Given the description of an element on the screen output the (x, y) to click on. 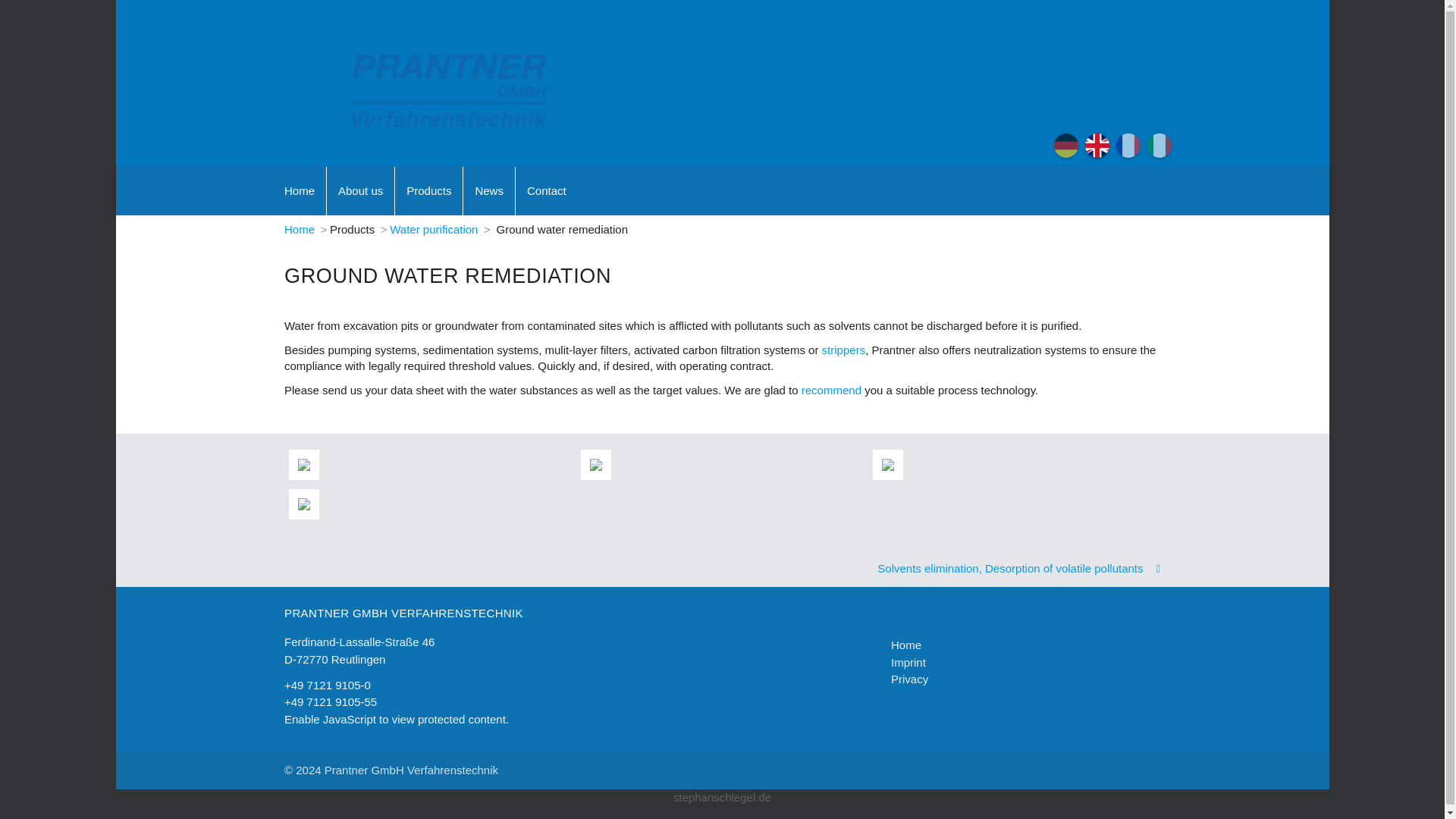
Products (428, 191)
News (489, 191)
Anglais (1128, 145)
About us (360, 191)
English (1096, 145)
Contact (546, 191)
Home (299, 191)
German (1066, 145)
Contact Persons (833, 390)
Italian (1158, 145)
Strippers (844, 349)
